Given the description of an element on the screen output the (x, y) to click on. 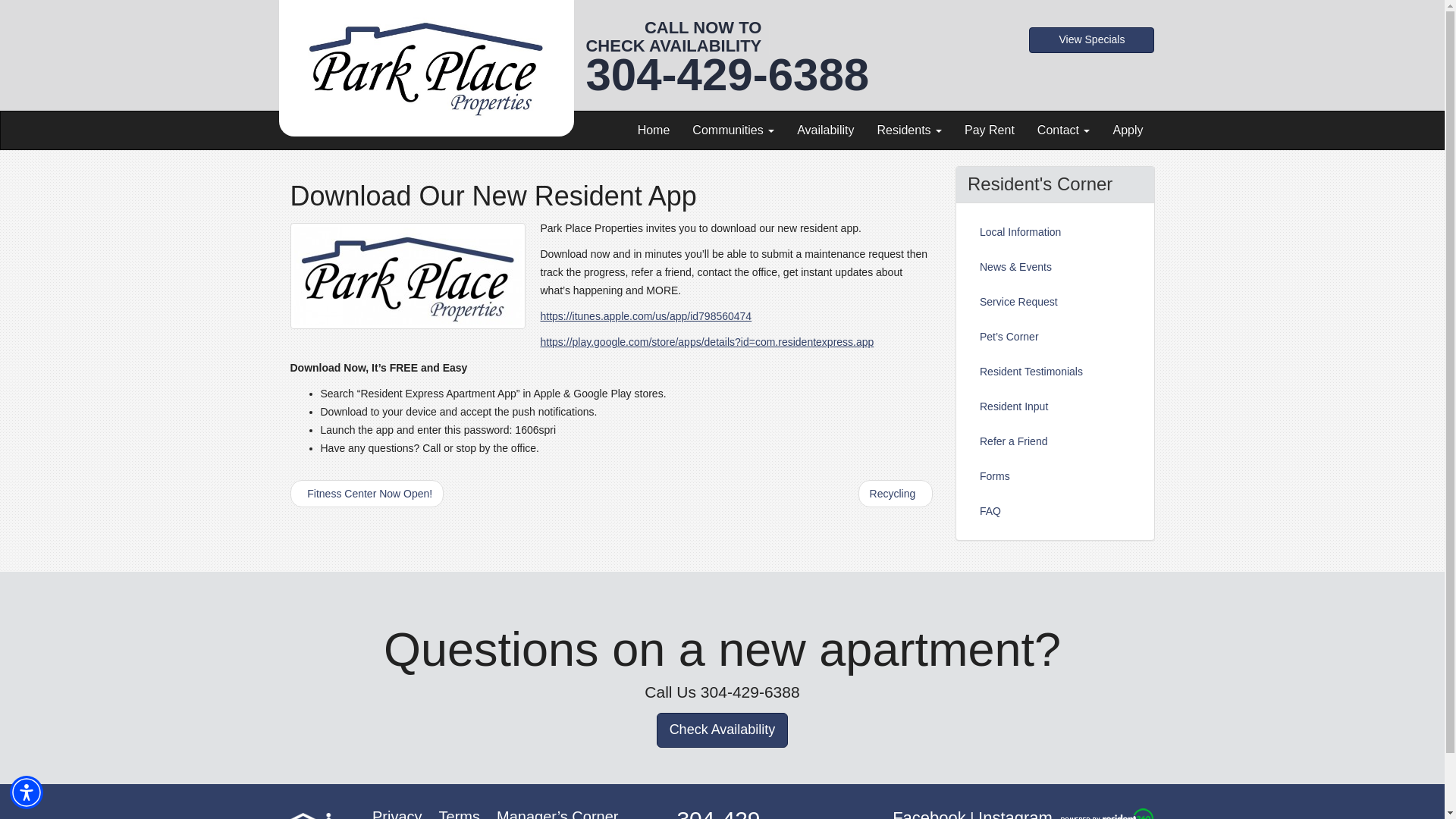
Resident Testimonials (1054, 371)
Home (653, 130)
Service Request (1054, 301)
Resident Input (1054, 406)
Home (653, 130)
Communities (733, 130)
  Fitness Center Now Open! (366, 492)
Apply (1127, 130)
Accessibility Menu (26, 792)
View Specials (1091, 40)
Contact (1064, 130)
Residents (908, 130)
Communities (733, 130)
Residents (908, 130)
Availability (825, 130)
